Given the description of an element on the screen output the (x, y) to click on. 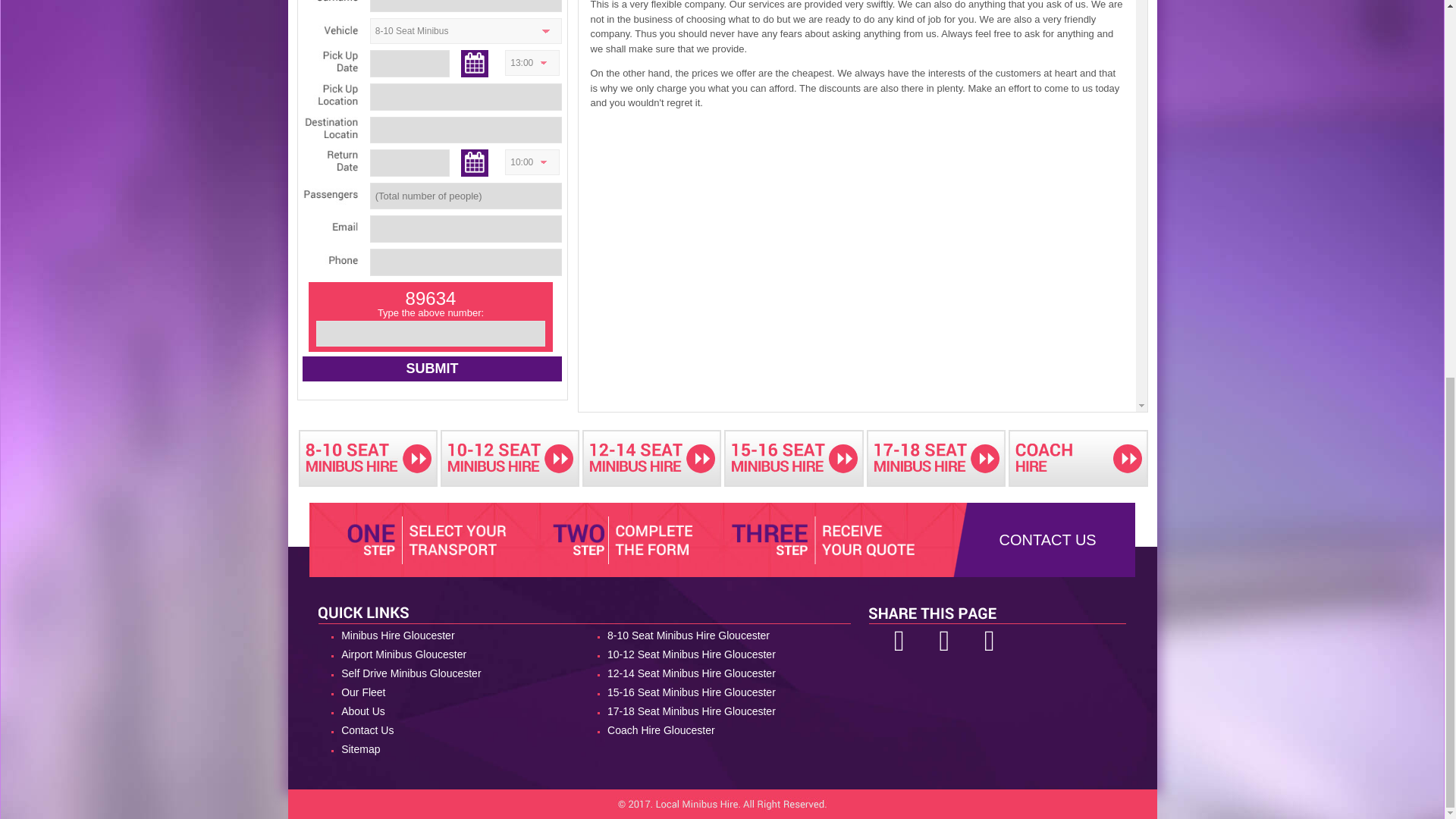
Submit (431, 368)
Minibus Hire Gloucester (451, 635)
Airport Minibus Gloucester (451, 654)
Submit (431, 368)
CONTACT US (1047, 539)
